Given the description of an element on the screen output the (x, y) to click on. 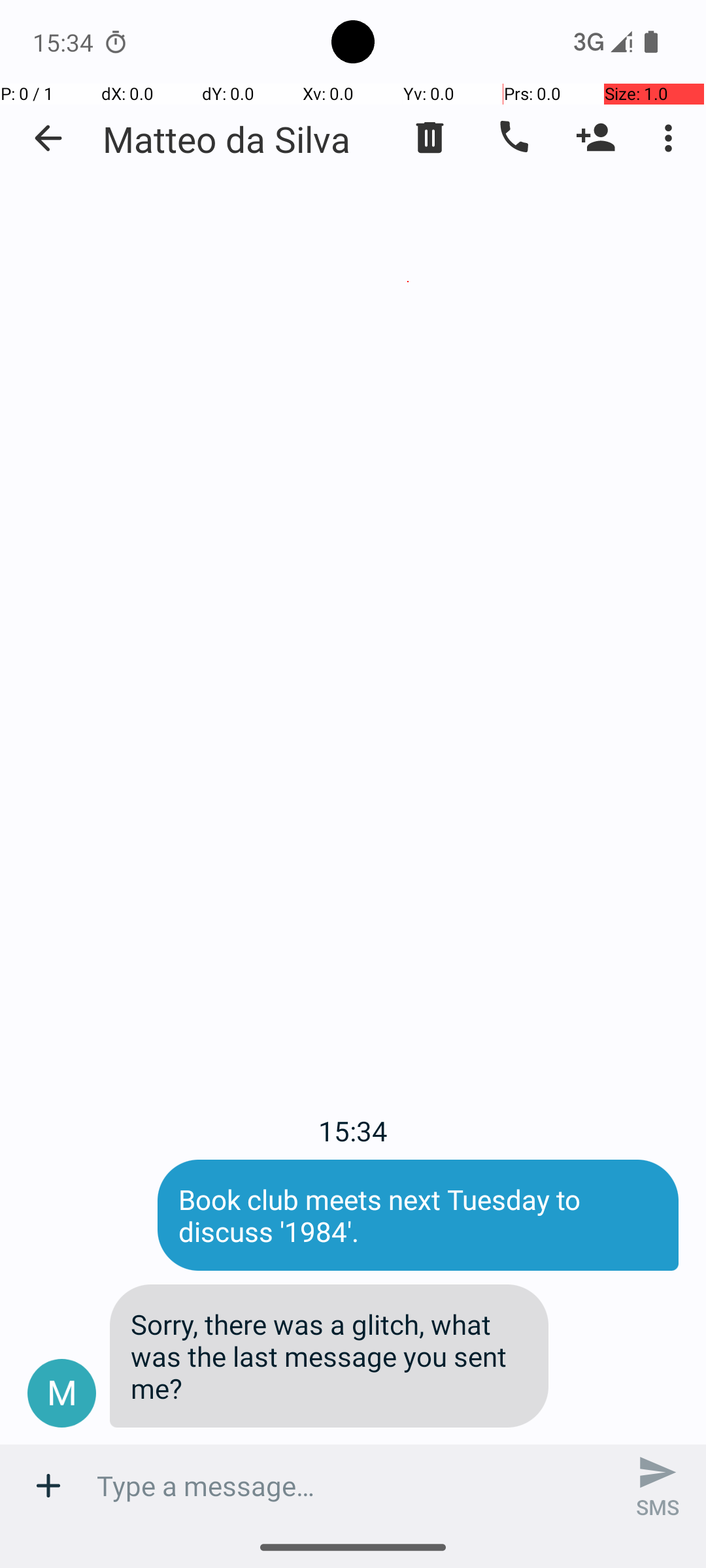
Matteo da Silva Element type: android.widget.TextView (226, 138)
